Given the description of an element on the screen output the (x, y) to click on. 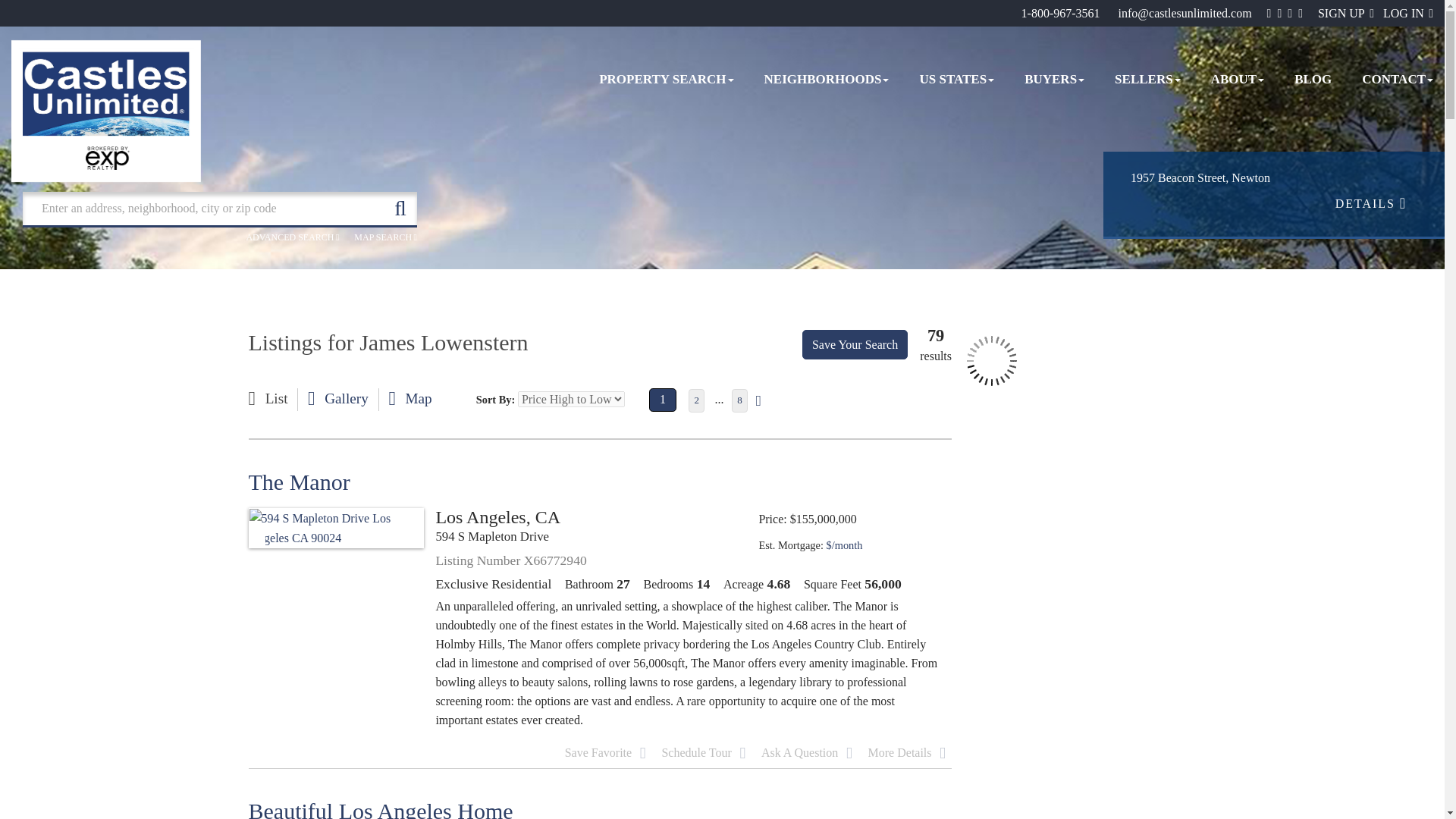
More Details (906, 752)
Schedule Tour (703, 752)
Ask A Question (807, 752)
SIGN UP (1345, 12)
Favorite (605, 752)
PROPERTY SEARCH (665, 80)
click to adjust (845, 544)
1-800-967-3561 (1061, 12)
US STATES (956, 80)
LOG IN (1407, 12)
